Given the description of an element on the screen output the (x, y) to click on. 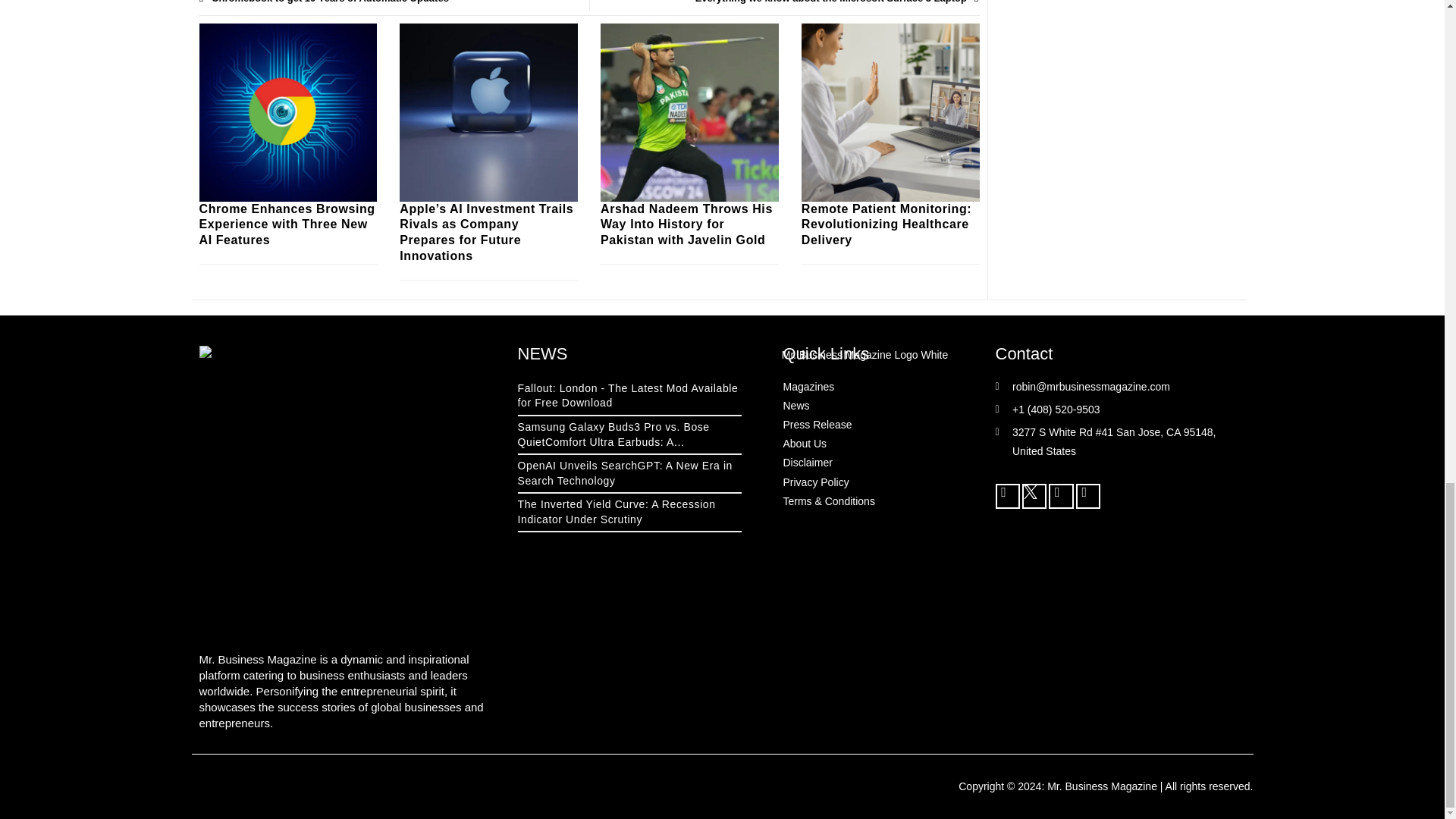
Chromebook to get 10 Years of Automatic Updates (393, 4)
Everything we know about the Microsoft Surface 3 Laptop (784, 4)
